Given the description of an element on the screen output the (x, y) to click on. 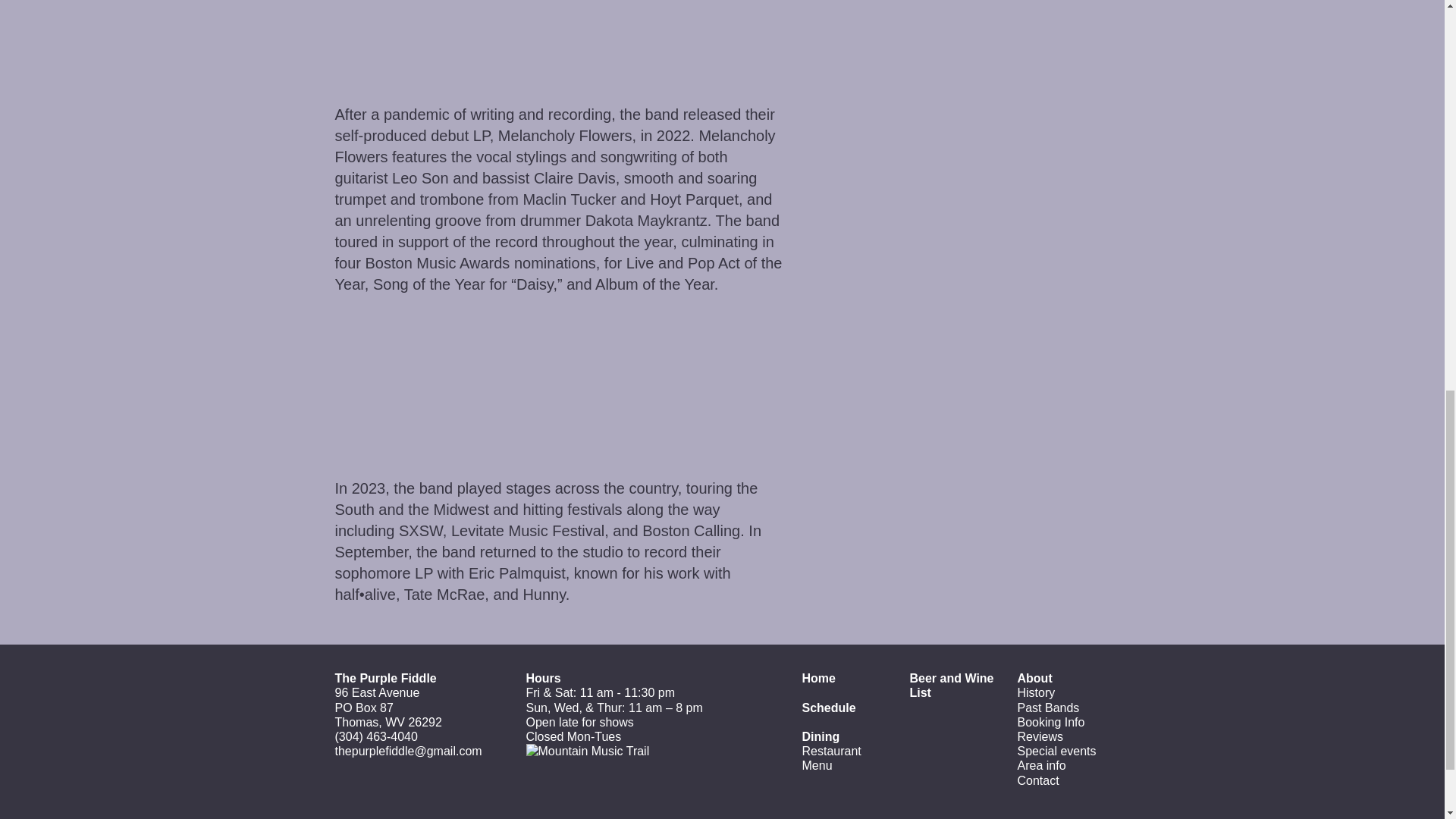
Restaurant (831, 750)
History (1036, 692)
Booking Info (1050, 721)
About (1034, 677)
Menu (817, 765)
Reviews (1039, 736)
Full band schedule (829, 707)
Beer and Wine List (952, 685)
Special events (1056, 750)
YouTube video player (459, 383)
Contact (1038, 780)
Area info (1041, 765)
Mountain Music Trail (587, 750)
Home (818, 677)
Schedule (829, 707)
